Given the description of an element on the screen output the (x, y) to click on. 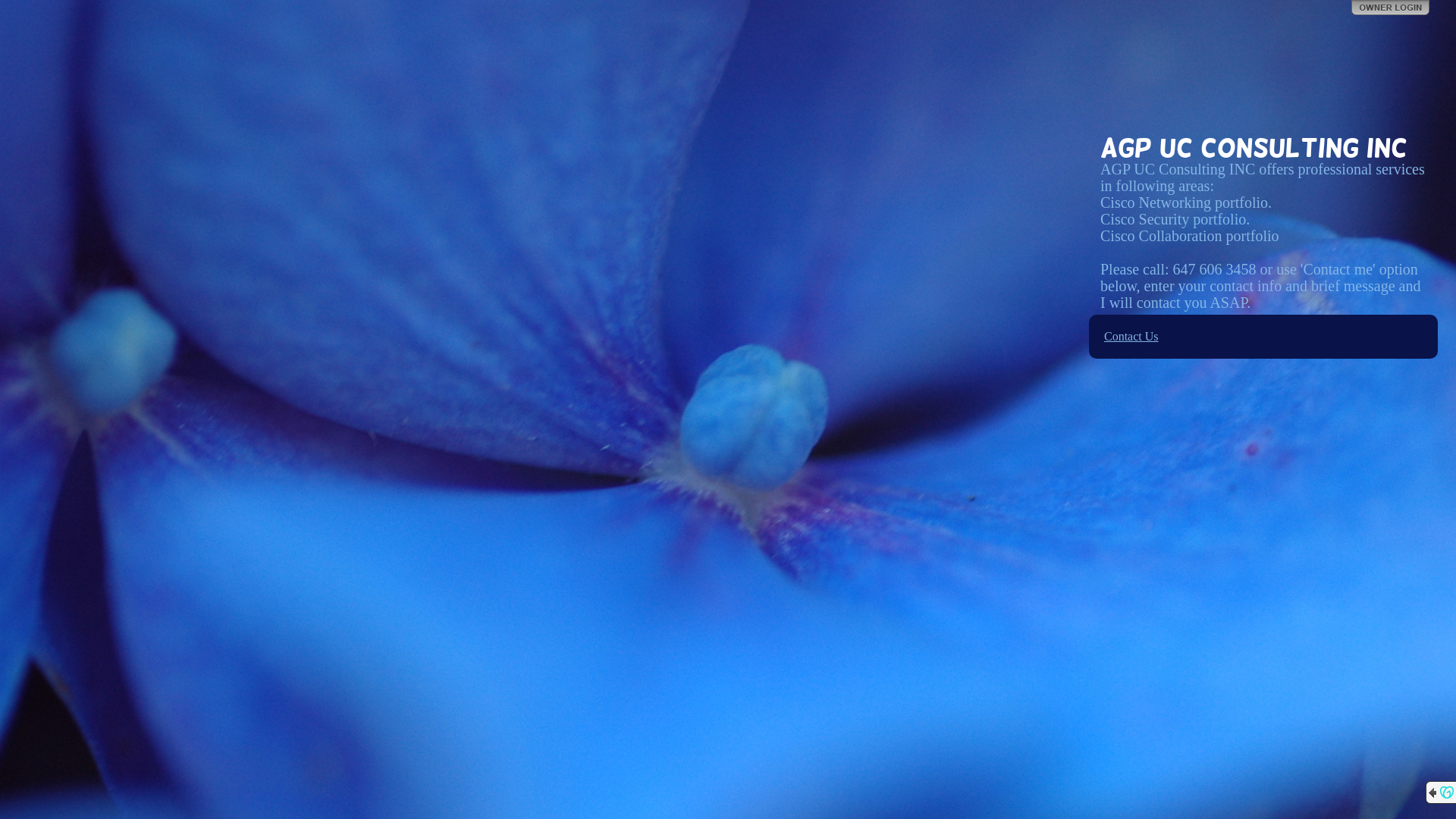
Contact Us Element type: text (1131, 335)
